Given the description of an element on the screen output the (x, y) to click on. 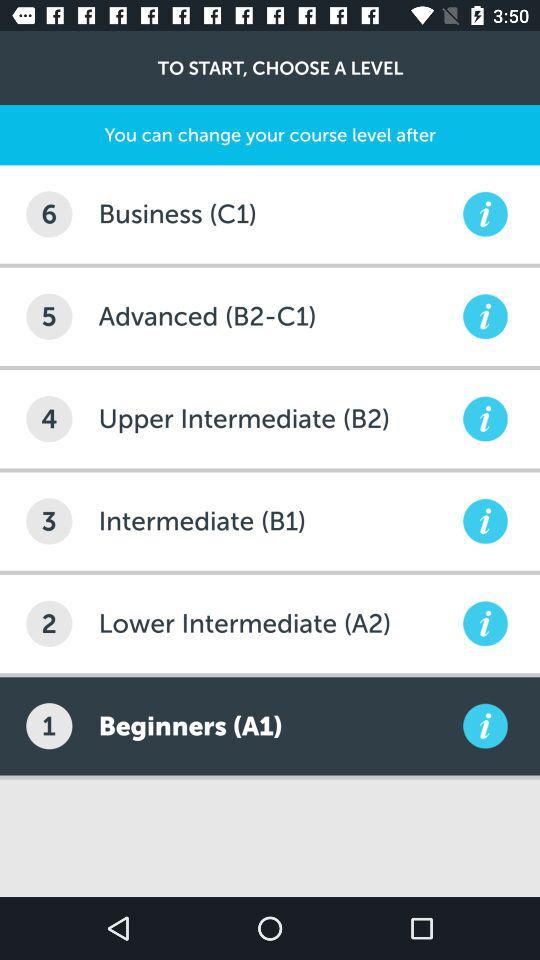
help option (485, 316)
